Given the description of an element on the screen output the (x, y) to click on. 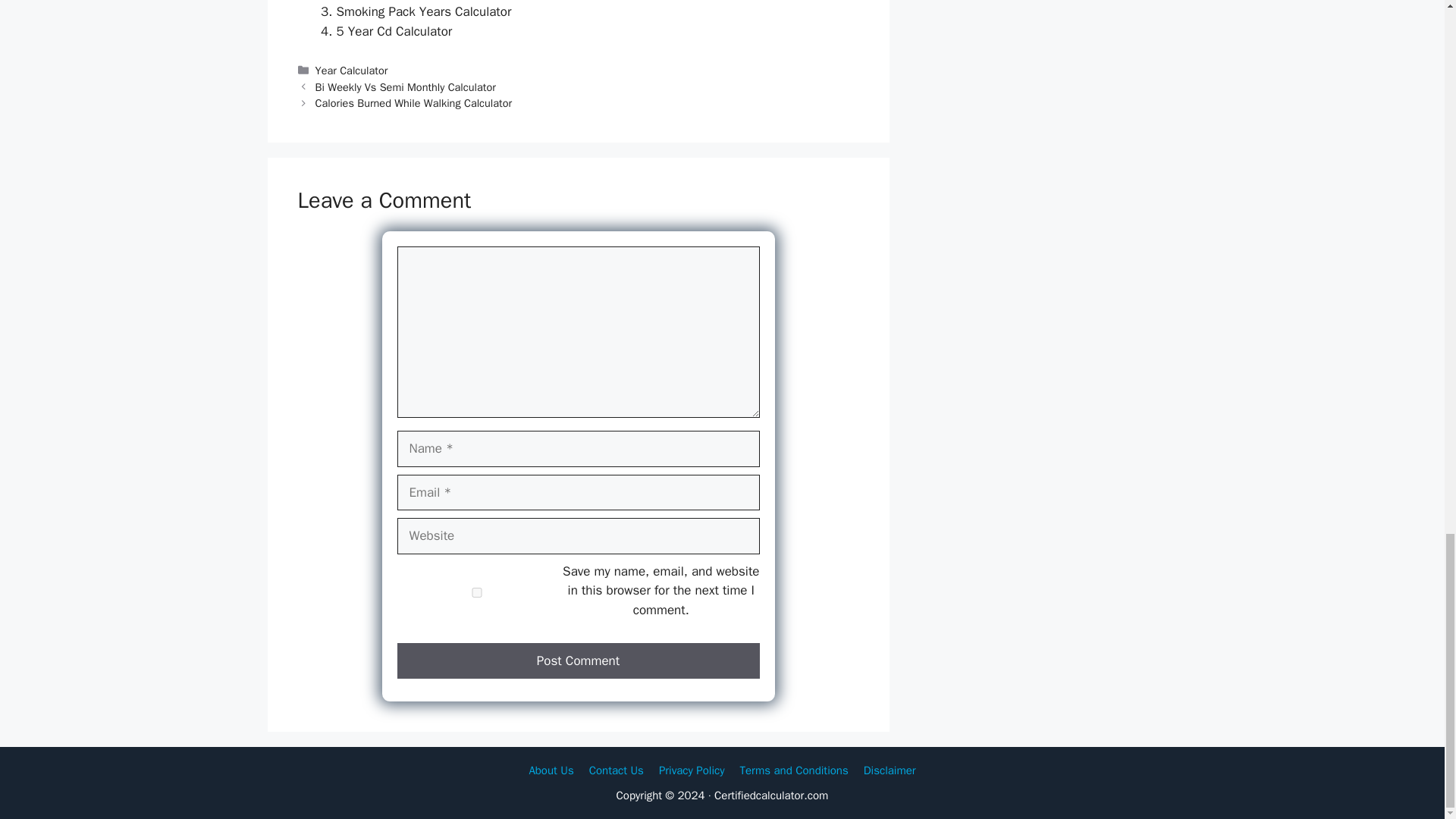
Smoking Pack Years Calculator (424, 11)
Calories Burned While Walking Calculator (413, 102)
Privacy Policy (692, 770)
Bi Weekly Vs Semi Monthly Calculator (405, 87)
Post Comment (578, 660)
Year Calculator (351, 69)
Contact Us (616, 770)
yes (476, 592)
